Given the description of an element on the screen output the (x, y) to click on. 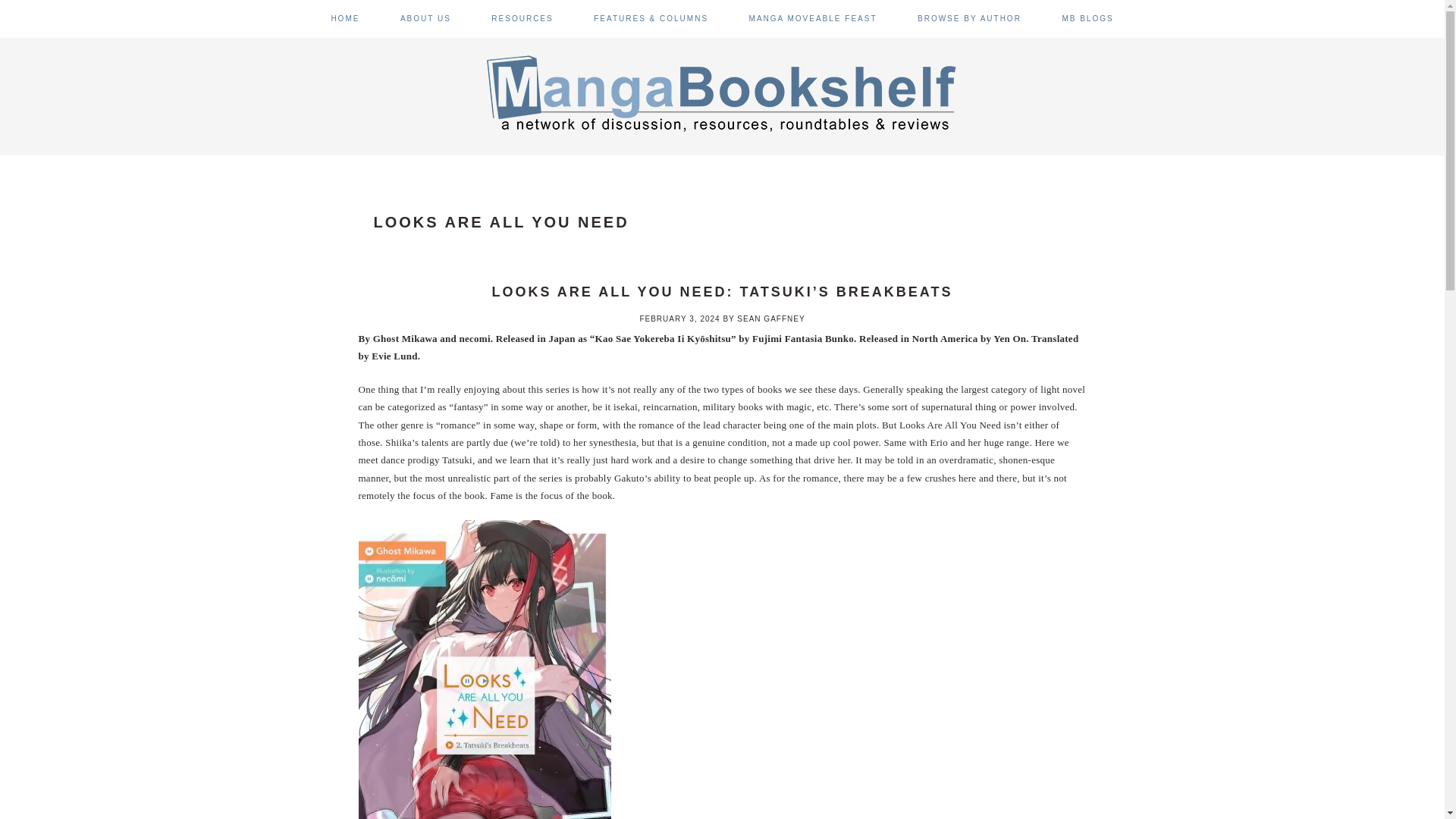
Posts by Sean Gaffney (770, 318)
RESOURCES (521, 18)
HOME (344, 18)
MANGA MOVEABLE FEAST (813, 18)
ABOUT US (425, 18)
